Given the description of an element on the screen output the (x, y) to click on. 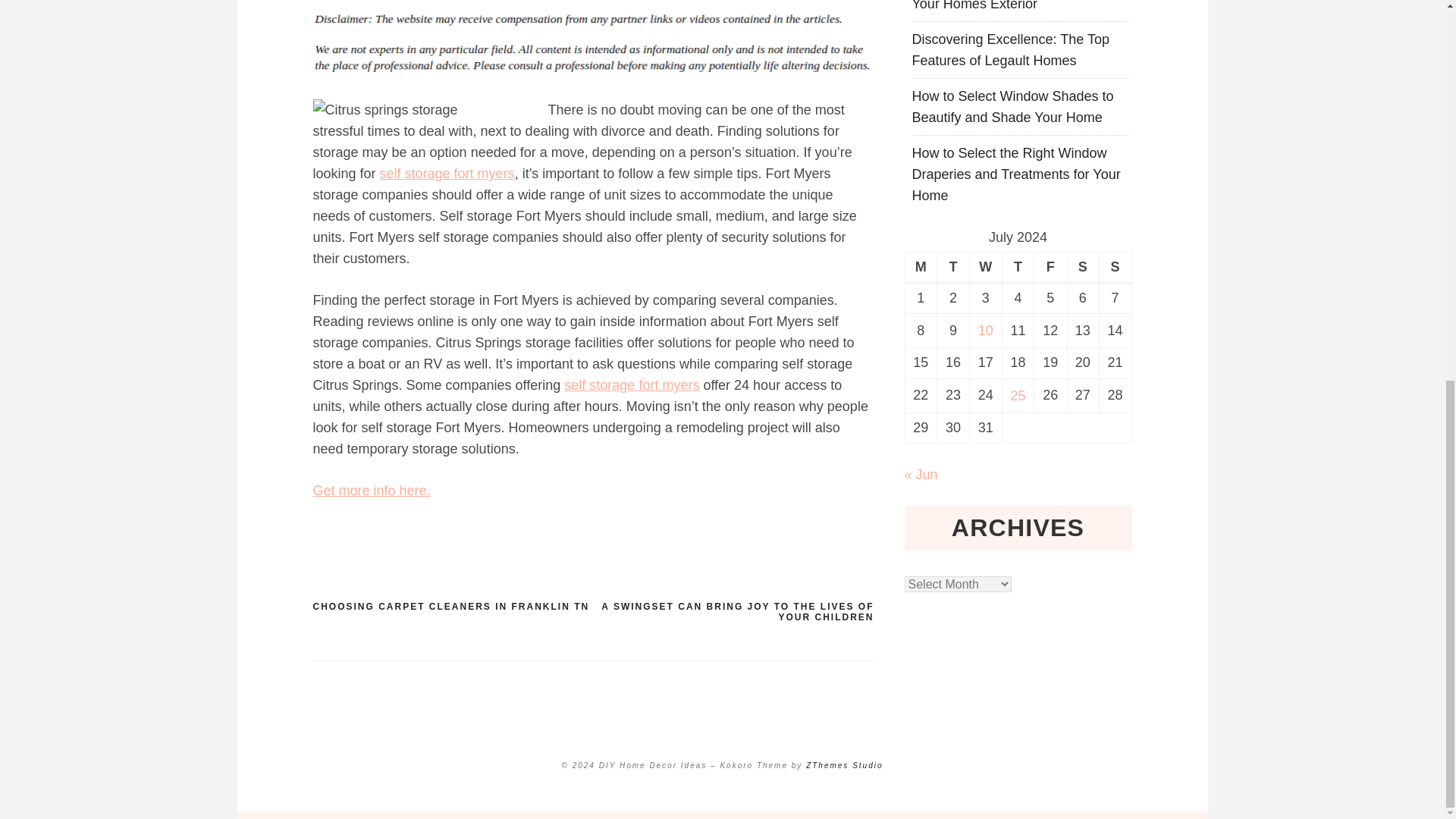
Sunday (1115, 266)
Friday (1050, 266)
A SWINGSET CAN BRING JOY TO THE LIVES OF YOUR CHILDREN (732, 611)
10 (985, 330)
Wednesday (985, 266)
Great find (447, 173)
More stuff (371, 490)
ZThemes Studio (844, 765)
Get more info here. (371, 490)
Discovering Excellence: The Top Features of Legault Homes (1009, 49)
CHOOSING CARPET CLEANERS IN FRANKLIN TN (451, 606)
Here you go (631, 385)
Monday (920, 266)
Big and Small Projects to Improve Your Homes Exterior (1013, 5)
